Given the description of an element on the screen output the (x, y) to click on. 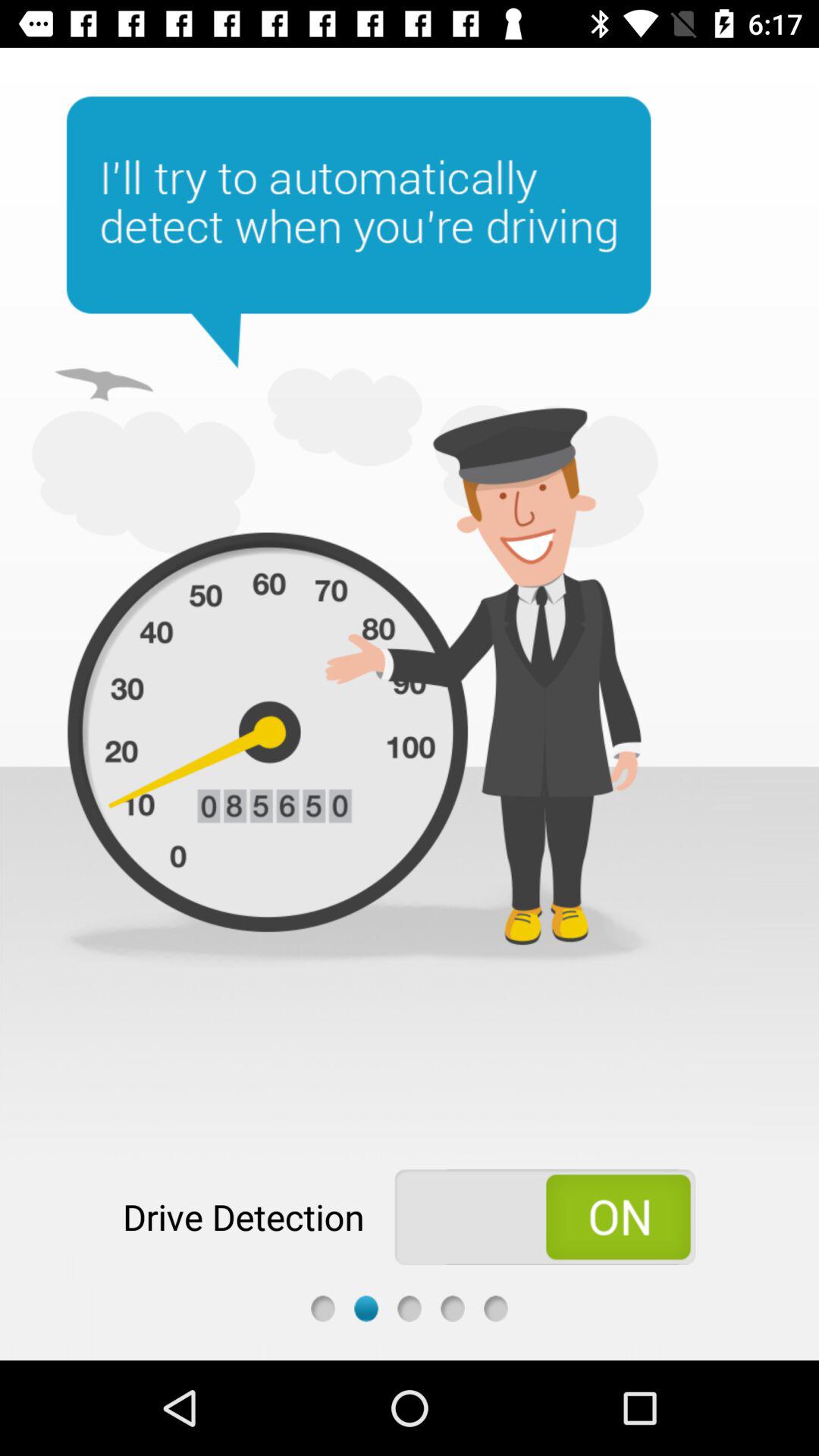
go to page (452, 1308)
